Given the description of an element on the screen output the (x, y) to click on. 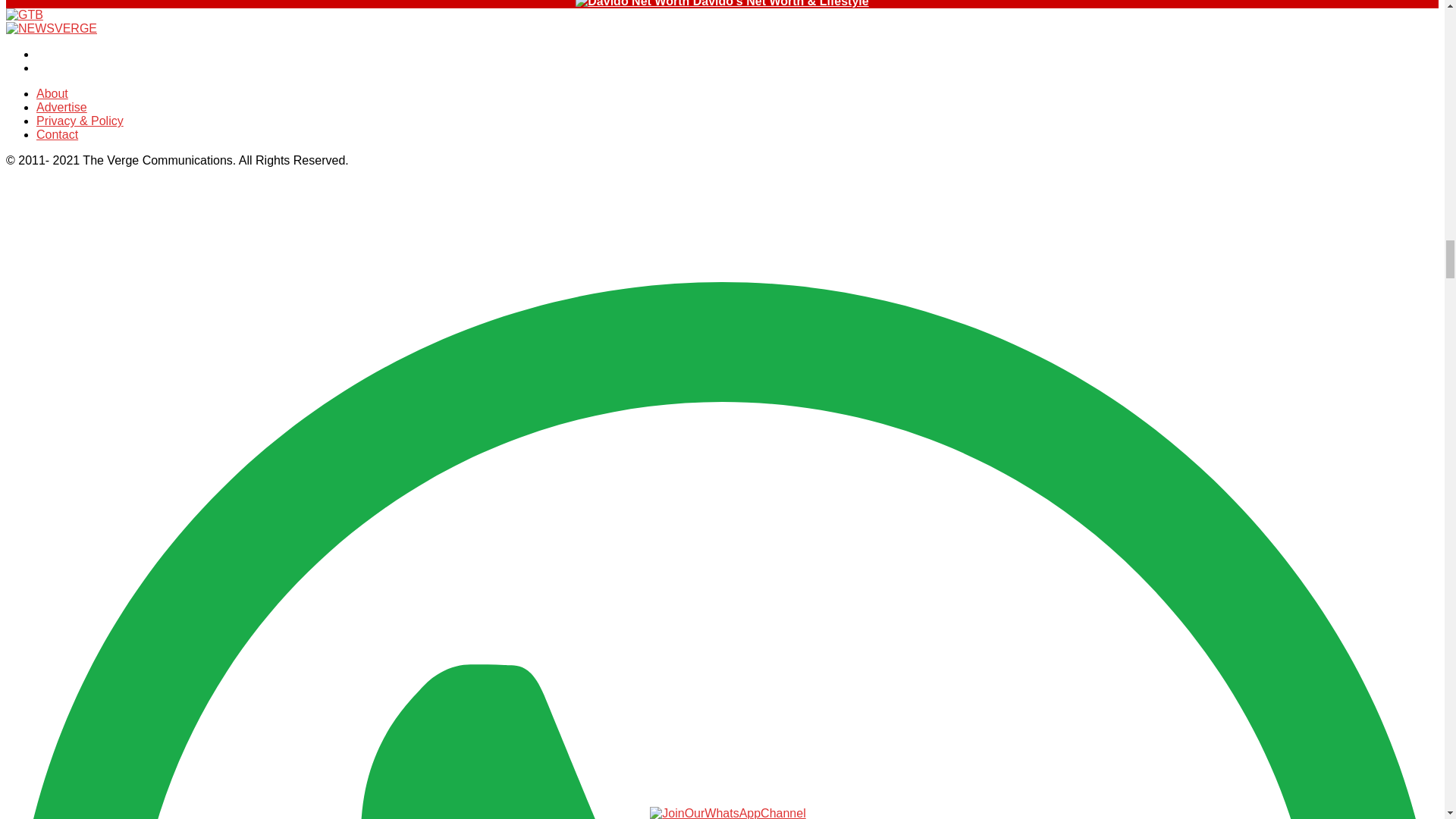
Davido Net Worth (631, 4)
